Given the description of an element on the screen output the (x, y) to click on. 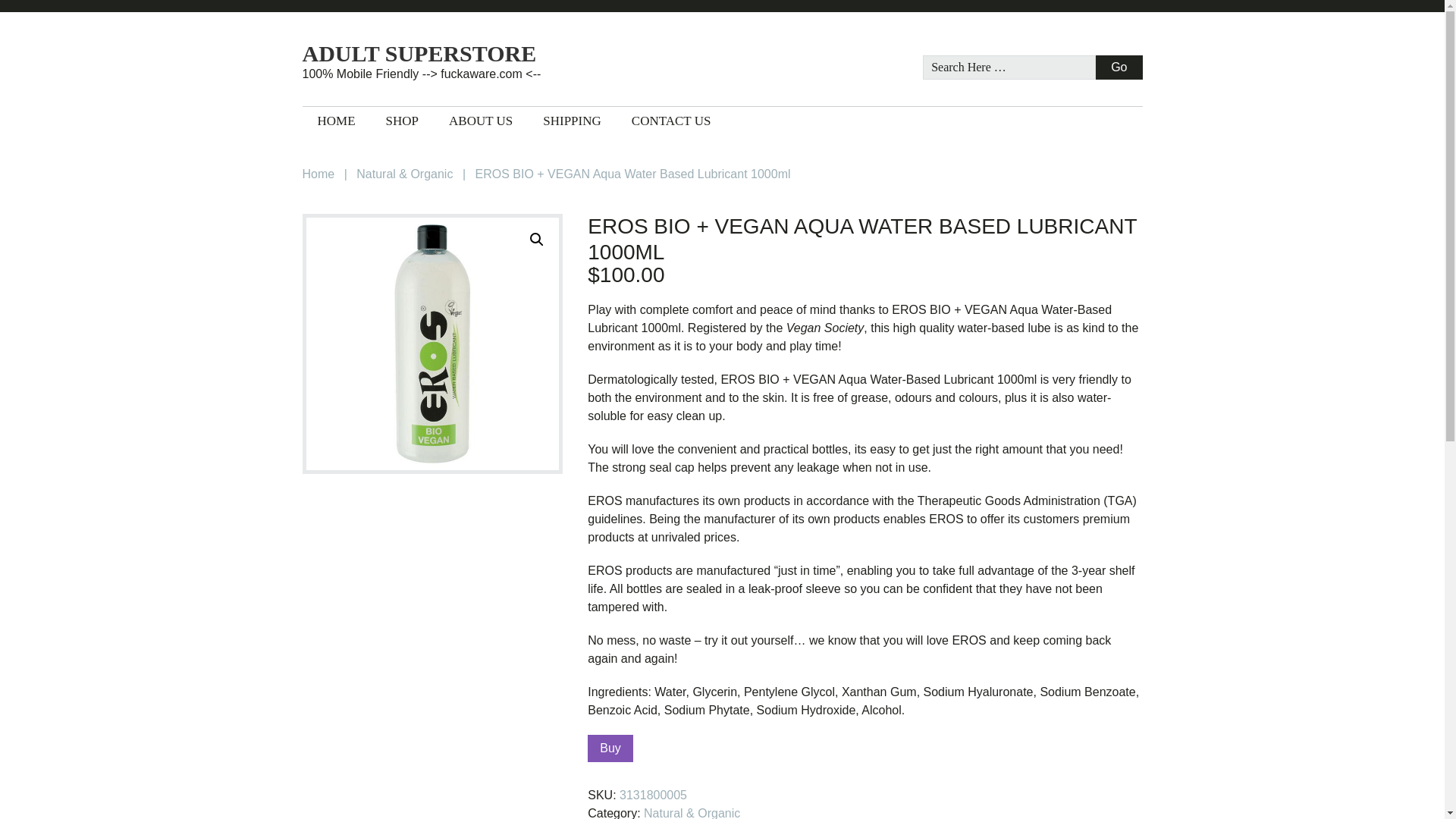
CONTACT US (670, 121)
SHOP (402, 121)
ABOUT US (480, 121)
Go (1118, 67)
104890256 (431, 343)
Go (1118, 67)
SHIPPING (571, 121)
HOME (335, 121)
ADULT SUPERSTORE (453, 53)
Home (317, 173)
Buy (610, 748)
